Given the description of an element on the screen output the (x, y) to click on. 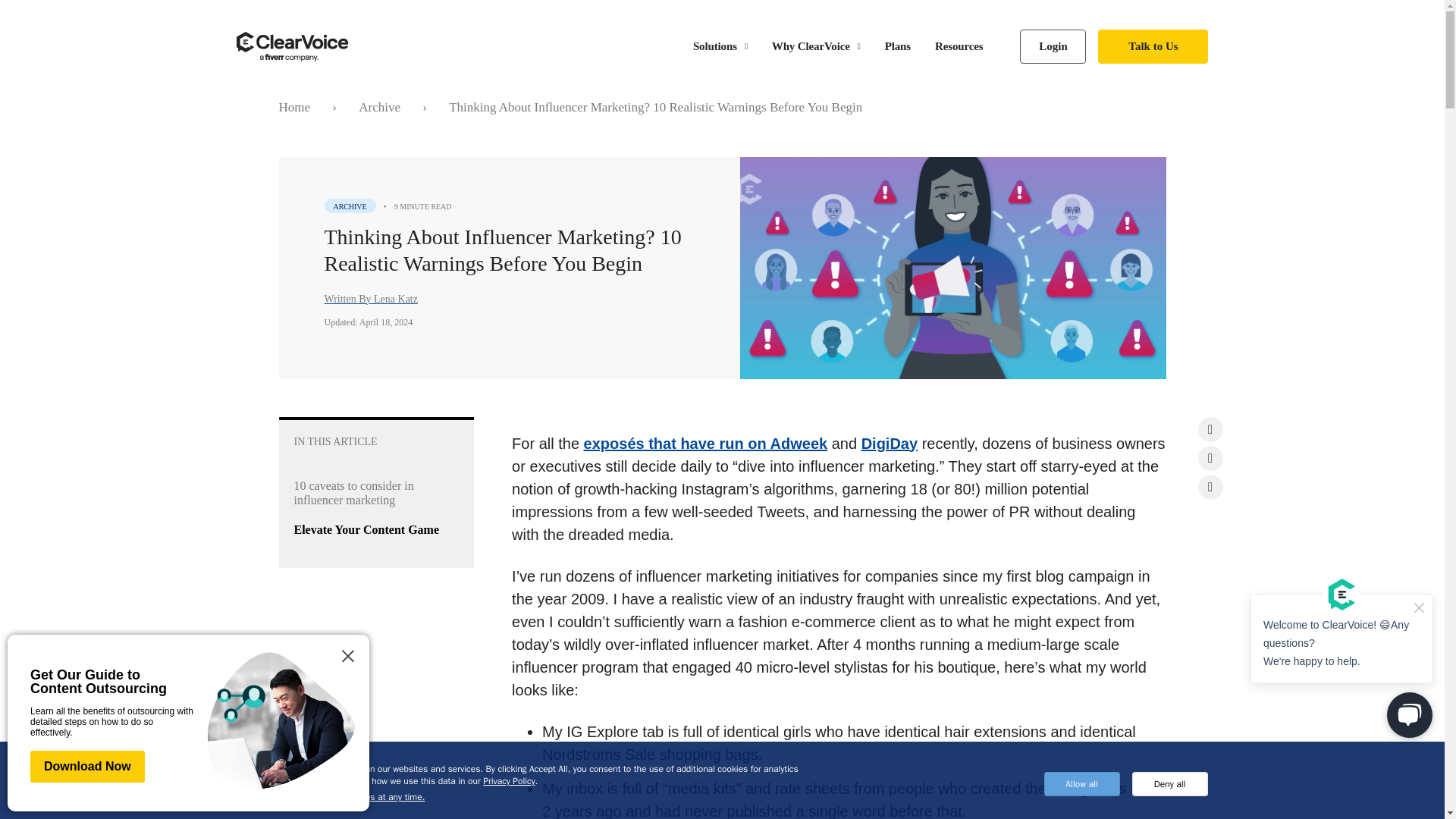
Resources (959, 46)
Popup CTA (188, 722)
Solutions (720, 46)
Why ClearVoice (815, 46)
Login (1053, 46)
Close (15, 754)
Talk to Us (1152, 46)
